Given the description of an element on the screen output the (x, y) to click on. 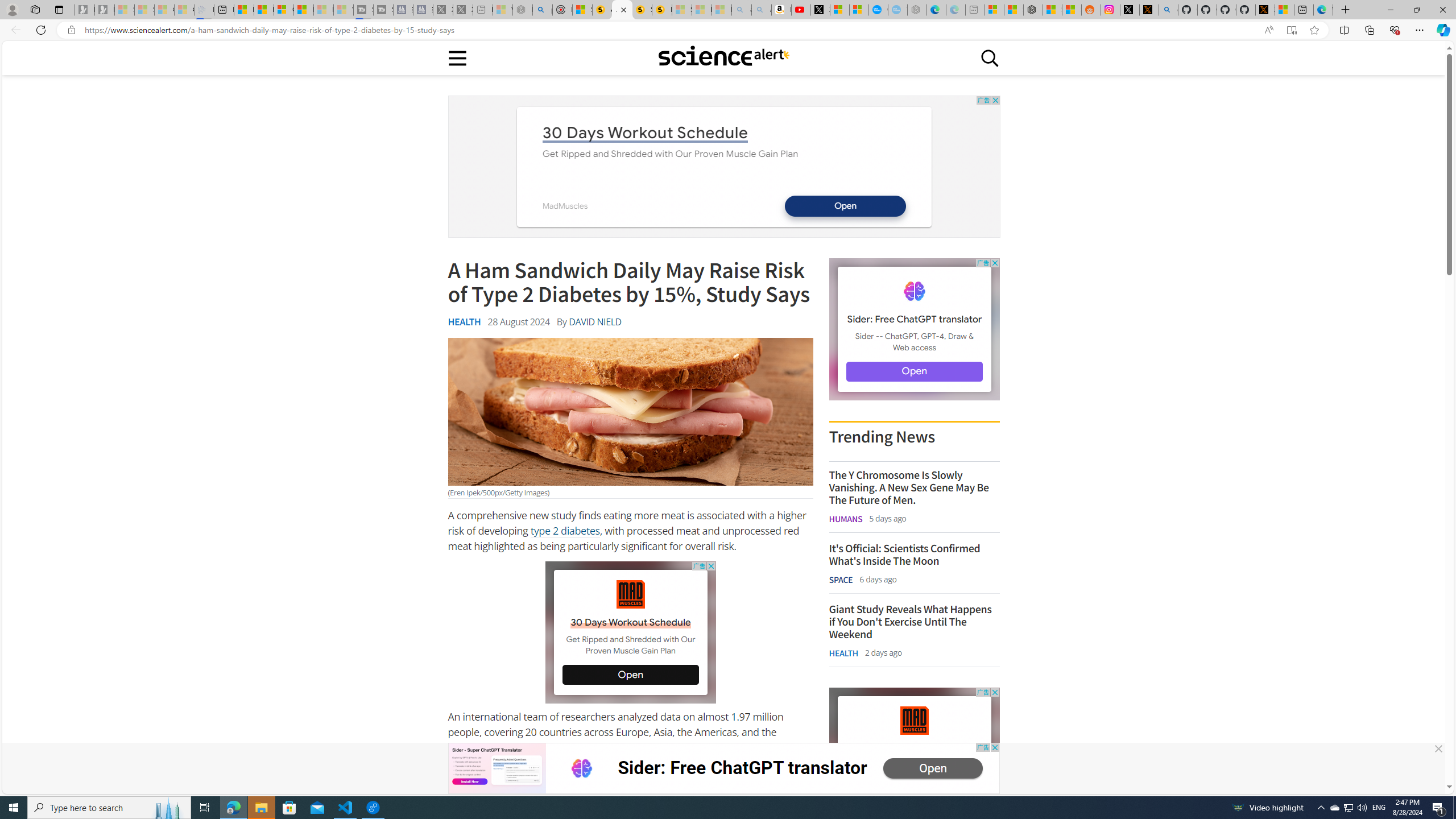
The most popular Google 'how to' searches - Sleeping (897, 9)
Overview (283, 9)
X (820, 9)
Enter Immersive Reader (F9) (1291, 29)
Welcome to Microsoft Edge (1323, 9)
Ham sandwich (629, 411)
Streaming Coverage | T3 - Sleeping (362, 9)
Nordace - Summer Adventures 2024 - Sleeping (522, 9)
Search (989, 57)
X - Sleeping (462, 9)
